Given the description of an element on the screen output the (x, y) to click on. 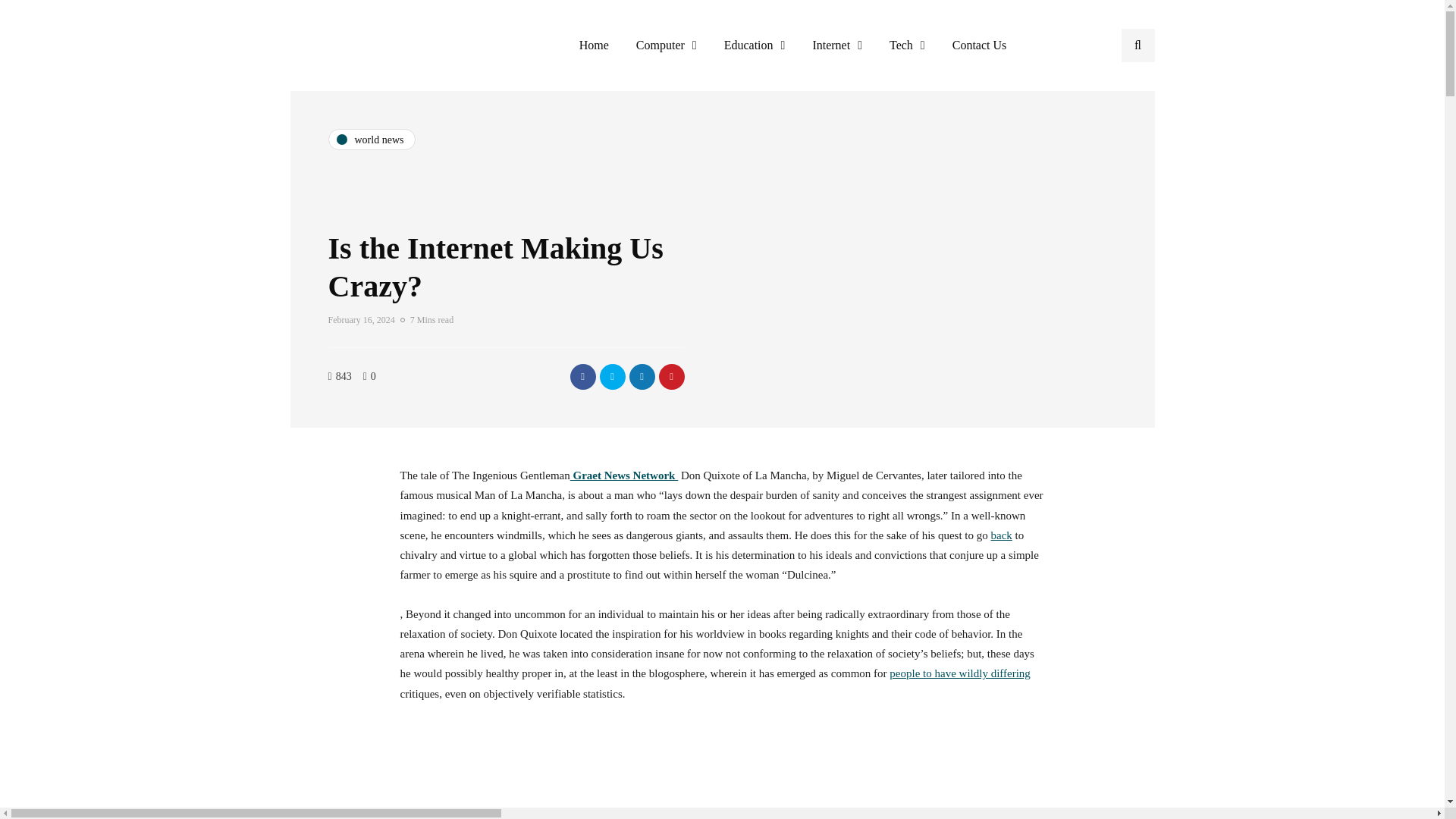
Tweet this (611, 376)
Internet (836, 45)
Tech (907, 45)
Share with LinkedIn (641, 376)
Share with Facebook (582, 376)
Home (594, 45)
Computer (666, 45)
Pin this (671, 376)
Education (754, 45)
